Given the description of an element on the screen output the (x, y) to click on. 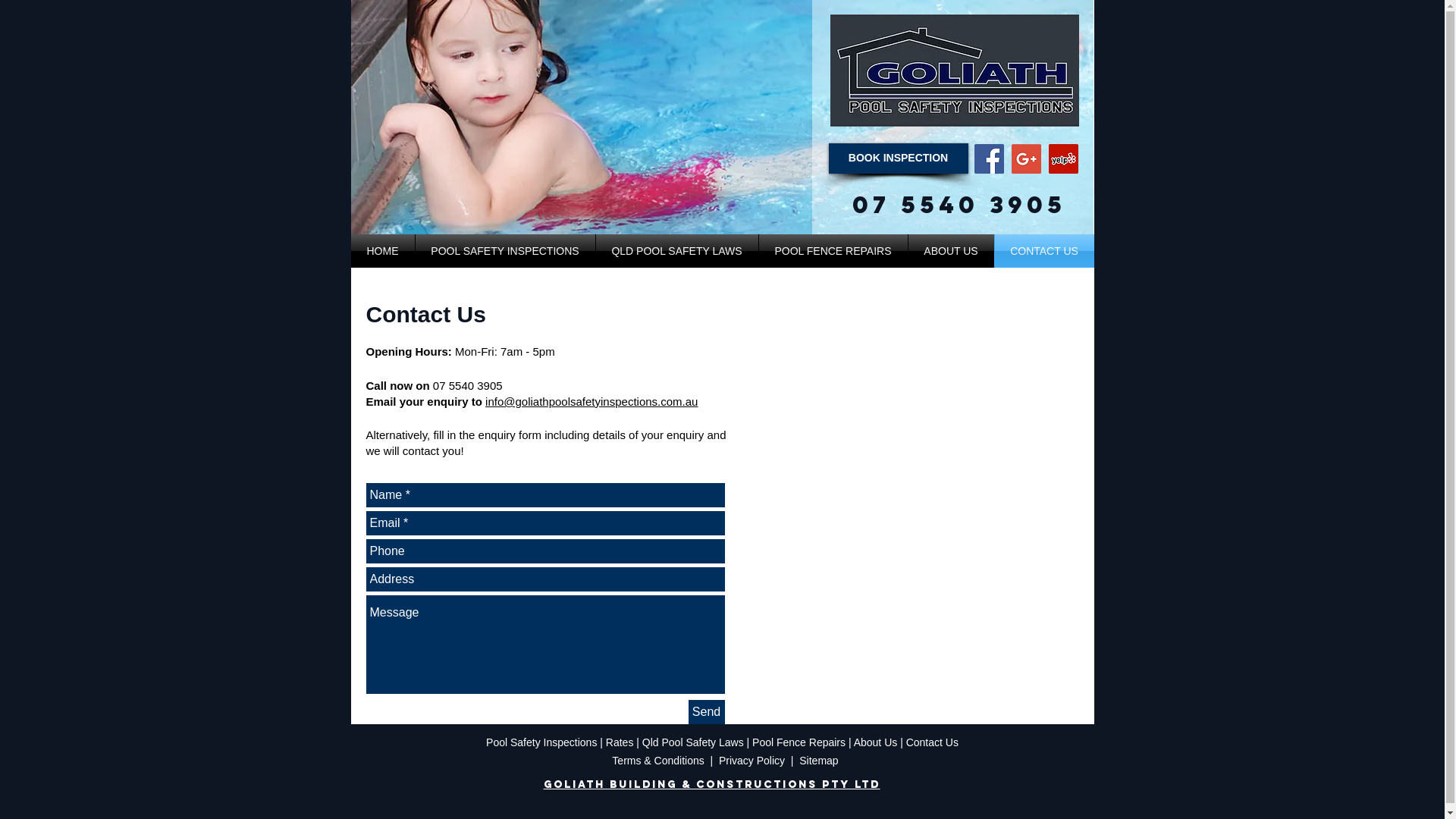
ABOUT US Element type: text (951, 250)
Goliath Pool Safety Inspections.jpg Element type: hover (953, 70)
POOL SAFETY INSPECTIONS Element type: text (505, 250)
| About Us  Element type: text (874, 742)
HOME Element type: text (382, 250)
Girl Swimming in Pool Element type: hover (721, 117)
POOL FENCE REPAIRS Element type: text (832, 250)
Pool Safety Inspections | Rates |  Element type: text (564, 742)
Contact Us Element type: text (932, 742)
Send Element type: text (706, 711)
info@goliathpoolsafetyinspections.com.au Element type: text (591, 401)
Google Maps Element type: hover (912, 531)
GOLIATH BUILDING & CONSTRUCTIONS PTY LTD Element type: text (710, 784)
|  Element type: text (903, 742)
Qld Pool Safety Laws | Pool Fence Repairs  Element type: text (745, 742)
Sitemap Element type: text (818, 760)
CONTACT US Element type: text (1044, 250)
QLD POOL SAFETY LAWS Element type: text (677, 250)
BOOK INSPECTION Element type: text (897, 158)
